Given the description of an element on the screen output the (x, y) to click on. 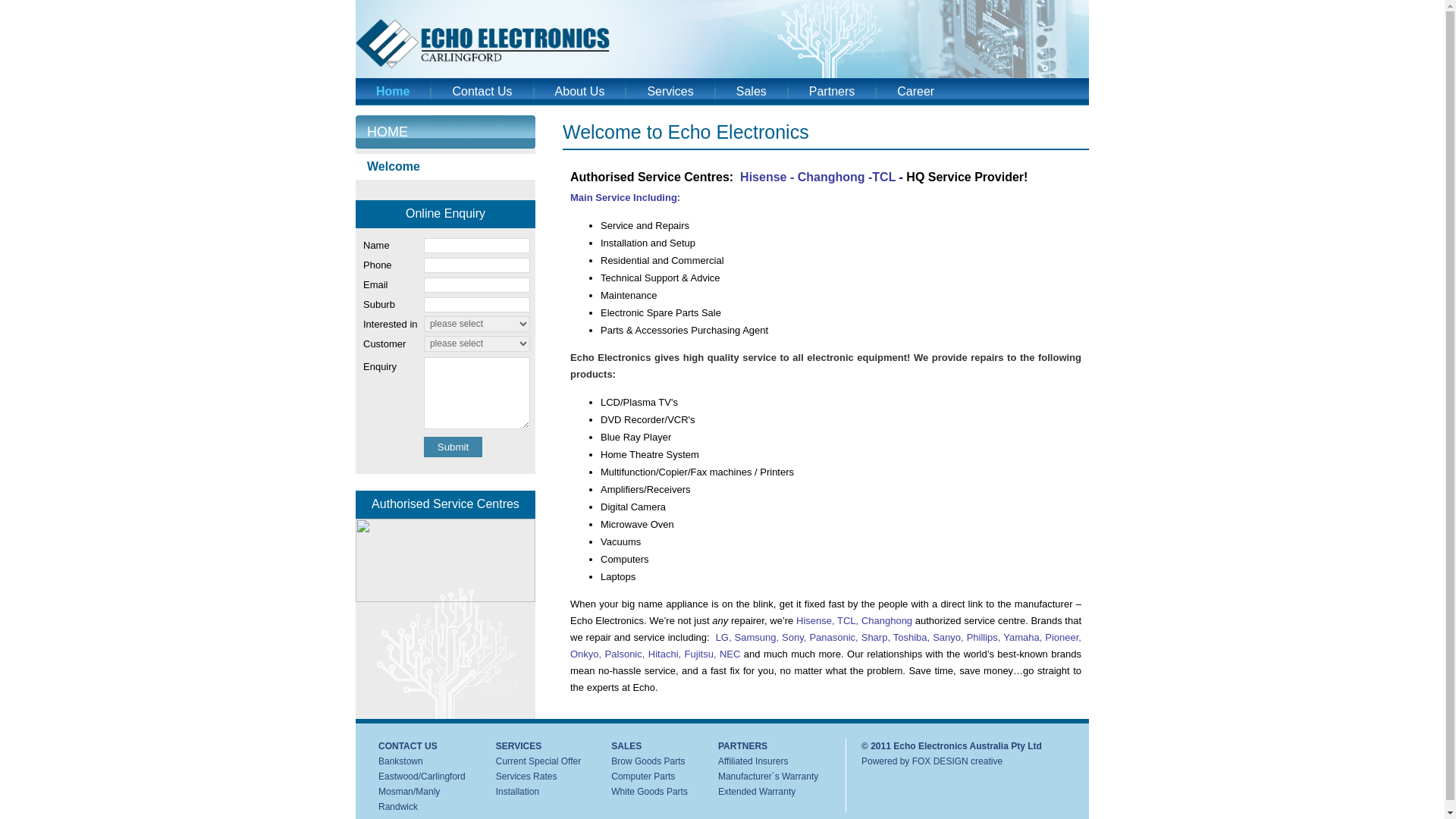
Bankstown Element type: text (400, 761)
Installation Element type: text (517, 791)
Welcome Element type: text (445, 166)
Brow Goods Parts Element type: text (647, 761)
White Goods Parts Element type: text (649, 791)
About Us Element type: text (579, 91)
Mosman/Manly Element type: text (408, 791)
Sales Element type: text (751, 91)
Eastwood/Carlingford Element type: text (421, 776)
Home Element type: text (392, 91)
Current Special Offer Element type: text (538, 761)
Services Element type: text (669, 91)
Affiliated Insurers Element type: text (753, 761)
Randwick Element type: text (397, 806)
Contact Us Element type: text (481, 91)
Partners Element type: text (831, 91)
Extended Warranty Element type: text (756, 791)
Computer Parts Element type: text (642, 776)
Submit Element type: text (452, 446)
Career Element type: text (915, 91)
Services Rates Element type: text (526, 776)
Powered by FOX DESIGN creative Element type: text (931, 761)
